Given the description of an element on the screen output the (x, y) to click on. 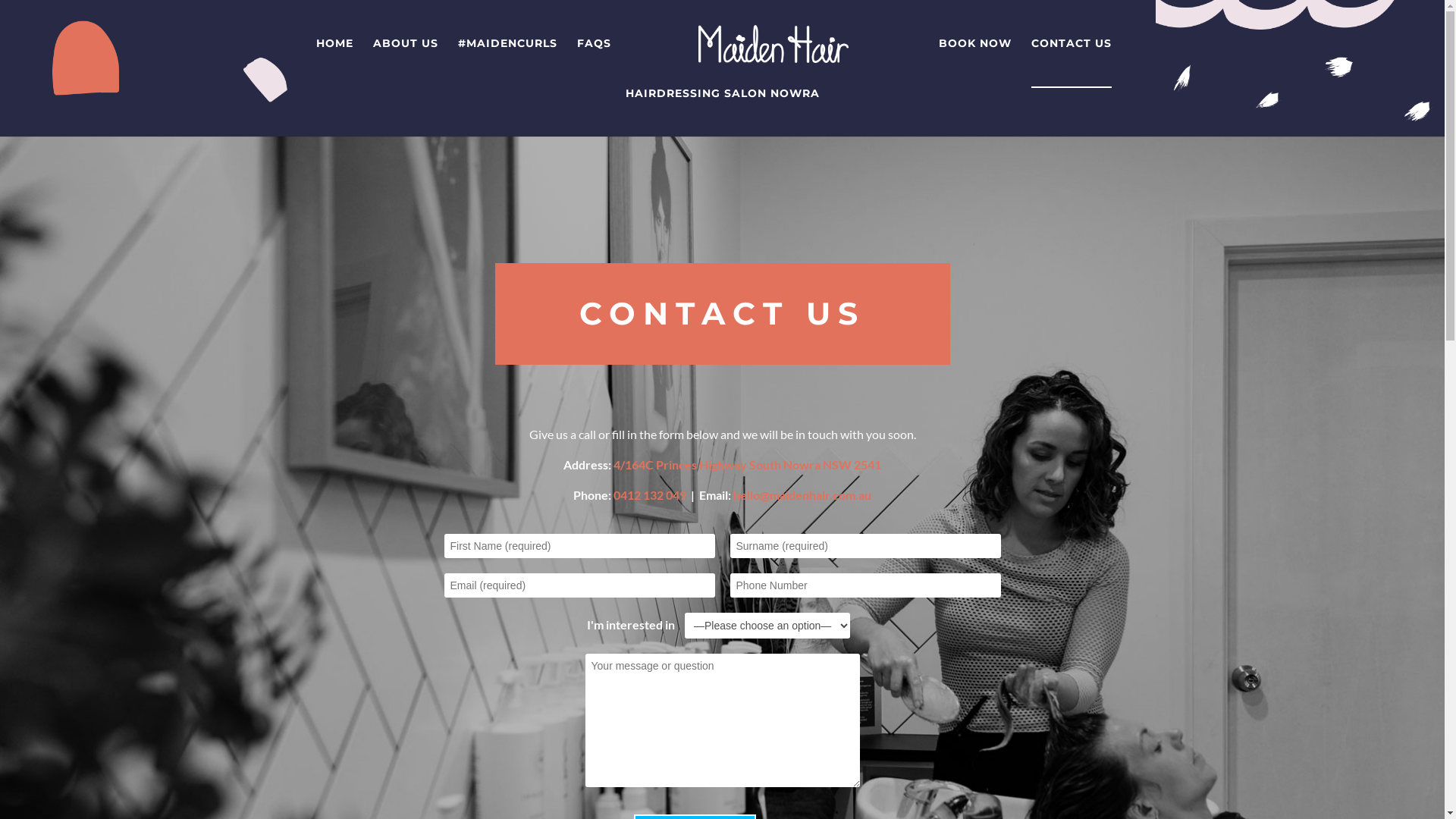
CONTACT US Element type: text (1071, 62)
hello@maidenhair.com.au Element type: text (802, 494)
0412 132 049 Element type: text (649, 494)
HOME Element type: text (334, 61)
HAIRDRESSING SALON NOWRA Element type: text (721, 111)
BOOK NOW Element type: text (974, 61)
FAQS Element type: text (594, 61)
ABOUT US Element type: text (405, 61)
#MAIDENCURLS Element type: text (507, 61)
4/164C Princes Highway South Nowra NSW 2541 Element type: text (747, 464)
